Given the description of an element on the screen output the (x, y) to click on. 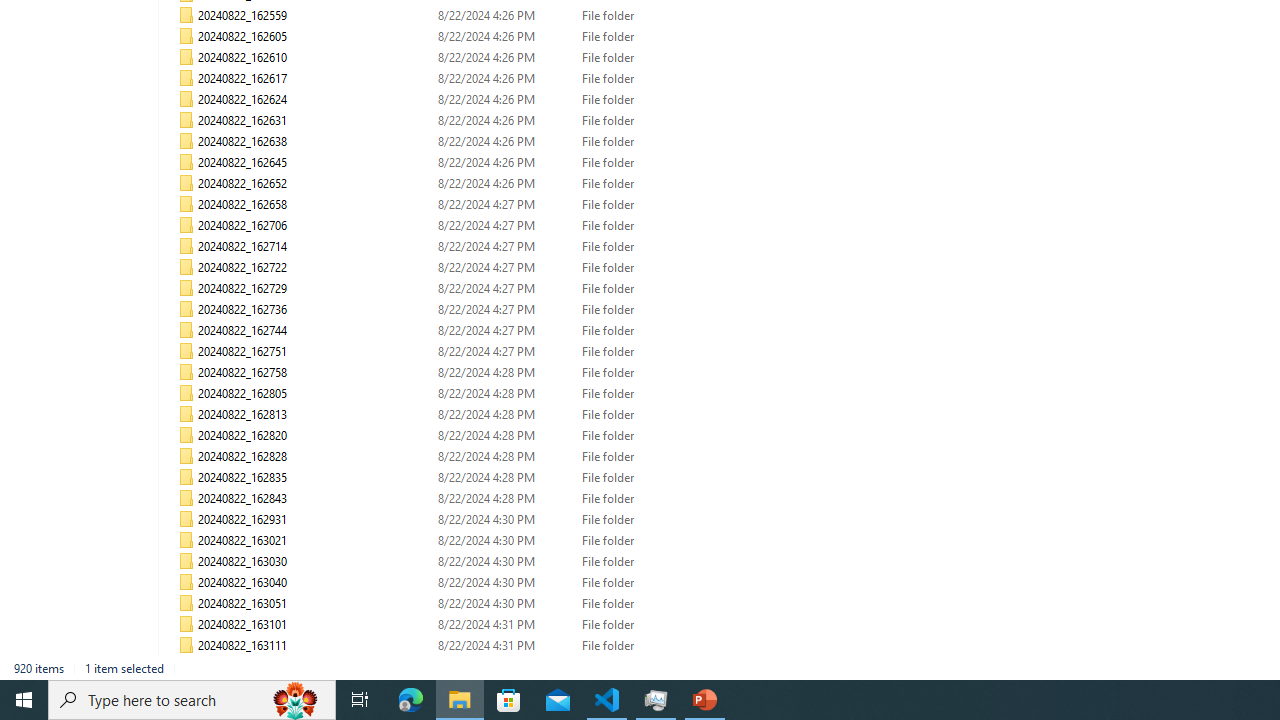
Type (636, 666)
20240822_162736 (472, 309)
20240822_162605 (472, 36)
Size (735, 666)
20240822_162631 (472, 120)
20240822_162835 (472, 477)
20240822_163030 (472, 561)
